Given the description of an element on the screen output the (x, y) to click on. 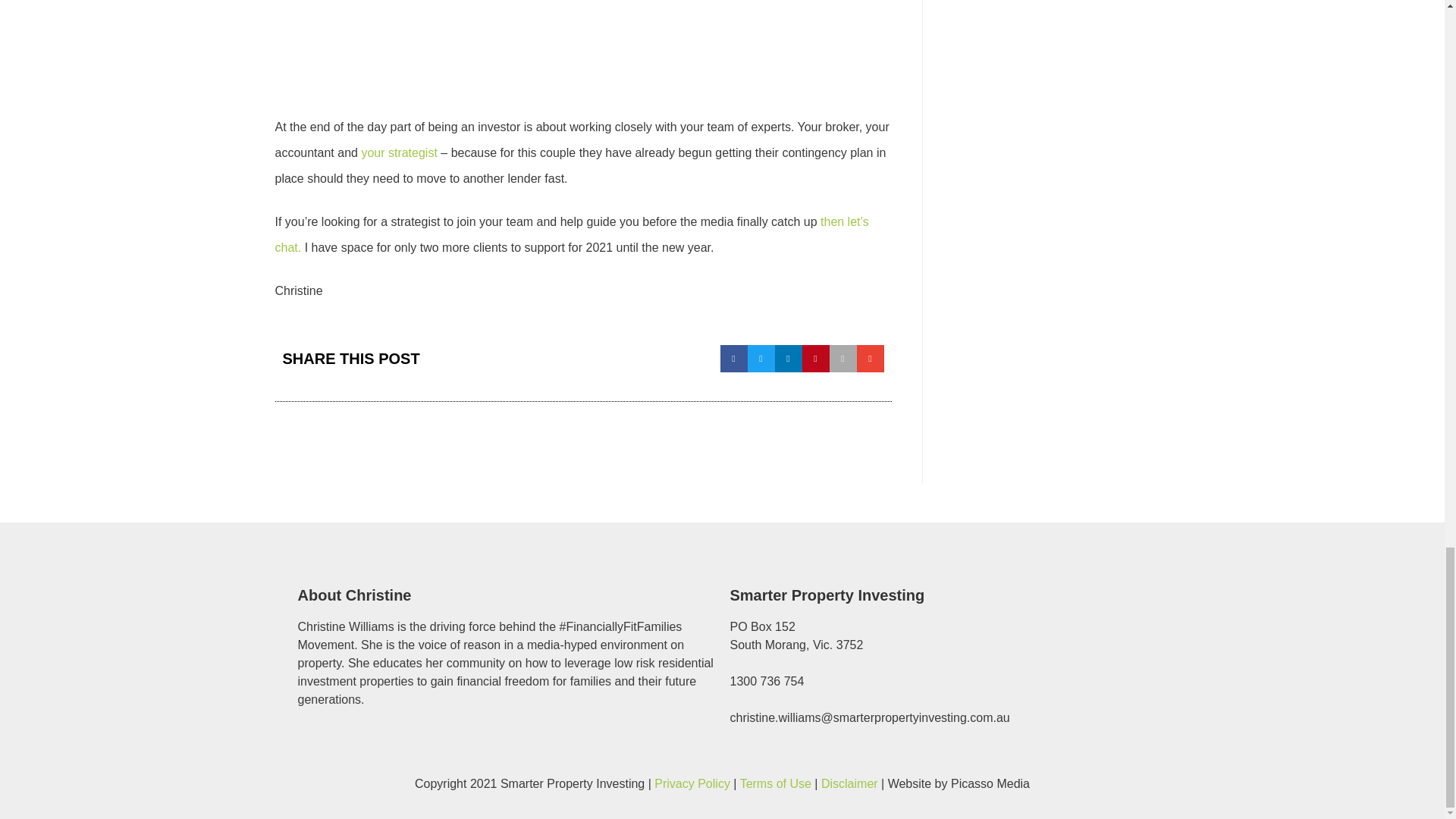
Terms of Use (774, 783)
your strategist (398, 152)
Disclaimer (849, 783)
Privacy Policy (691, 783)
